Given the description of an element on the screen output the (x, y) to click on. 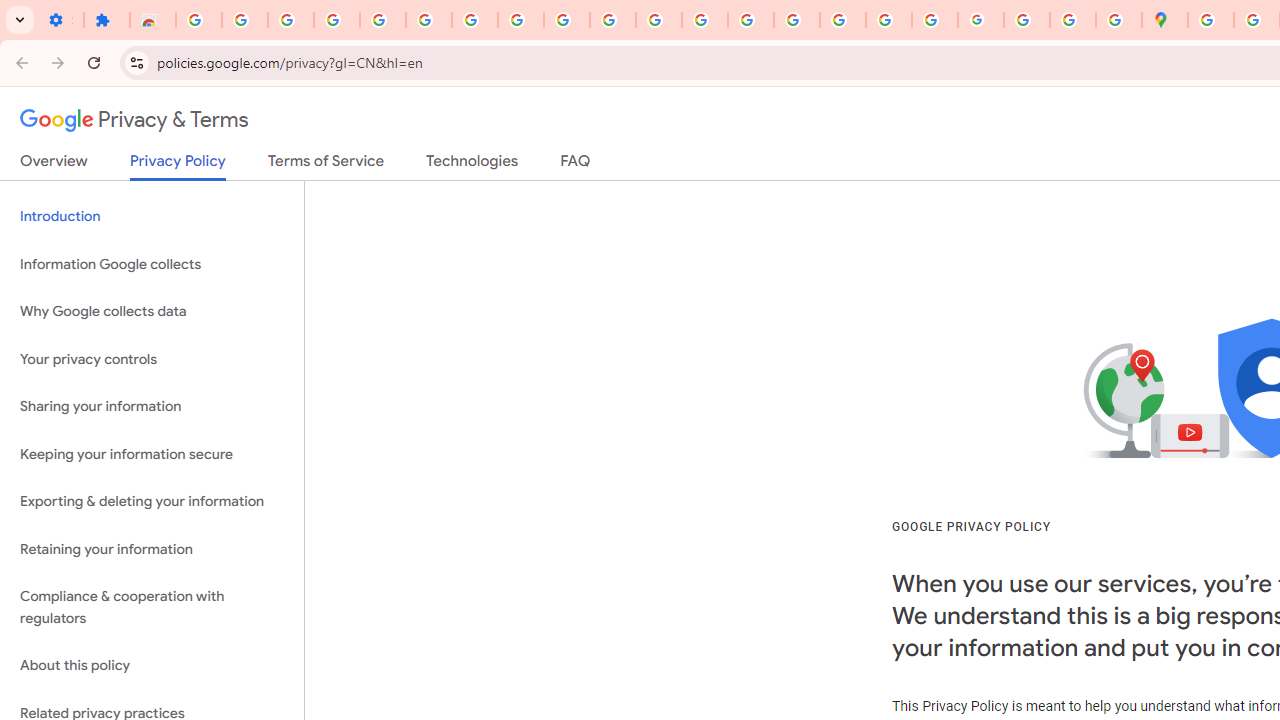
Delete photos & videos - Computer - Google Photos Help (244, 20)
Google Maps (1164, 20)
